Given the description of an element on the screen output the (x, y) to click on. 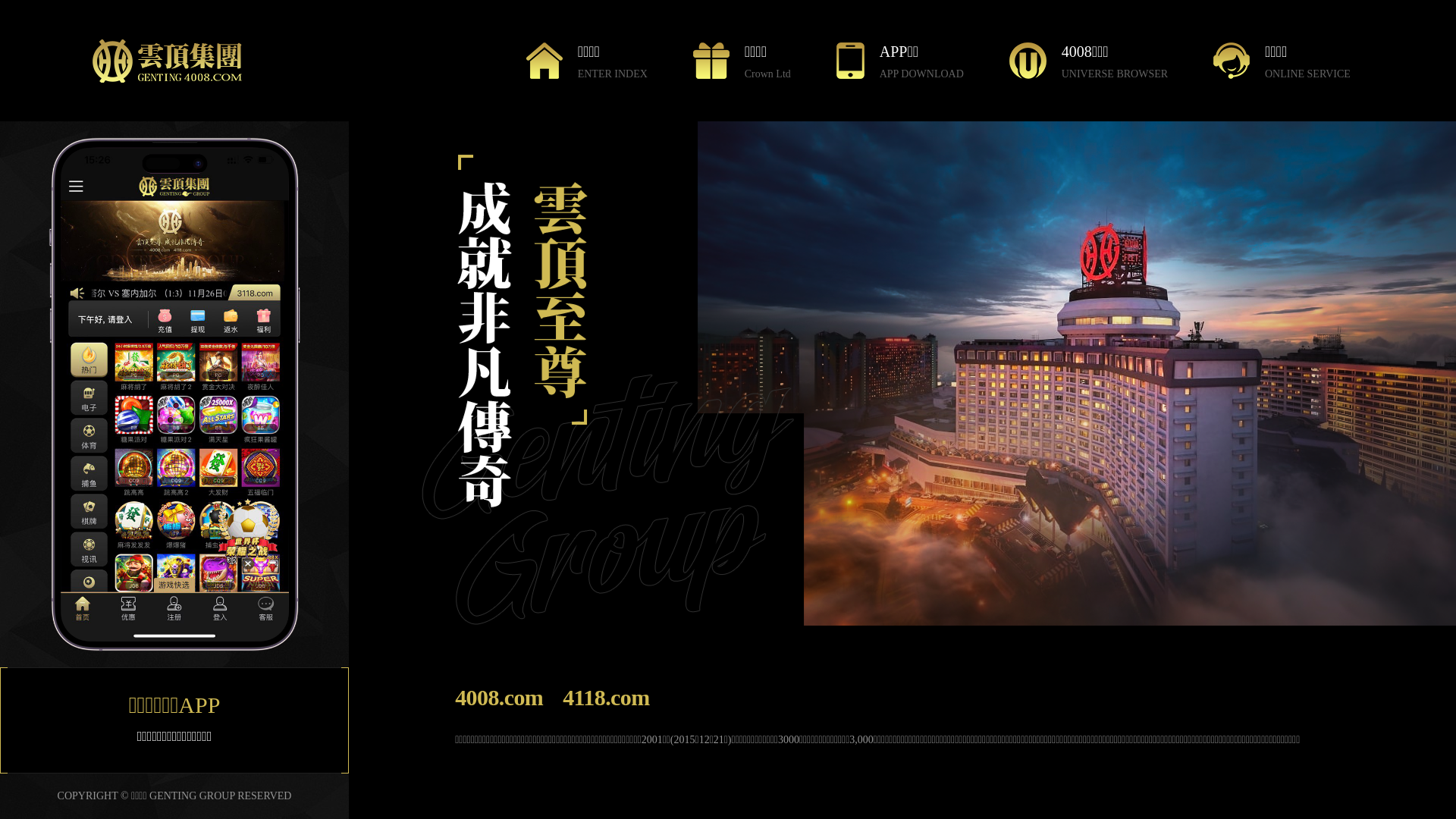
4118.com Element type: text (605, 696)
4008.com Element type: text (498, 696)
